Given the description of an element on the screen output the (x, y) to click on. 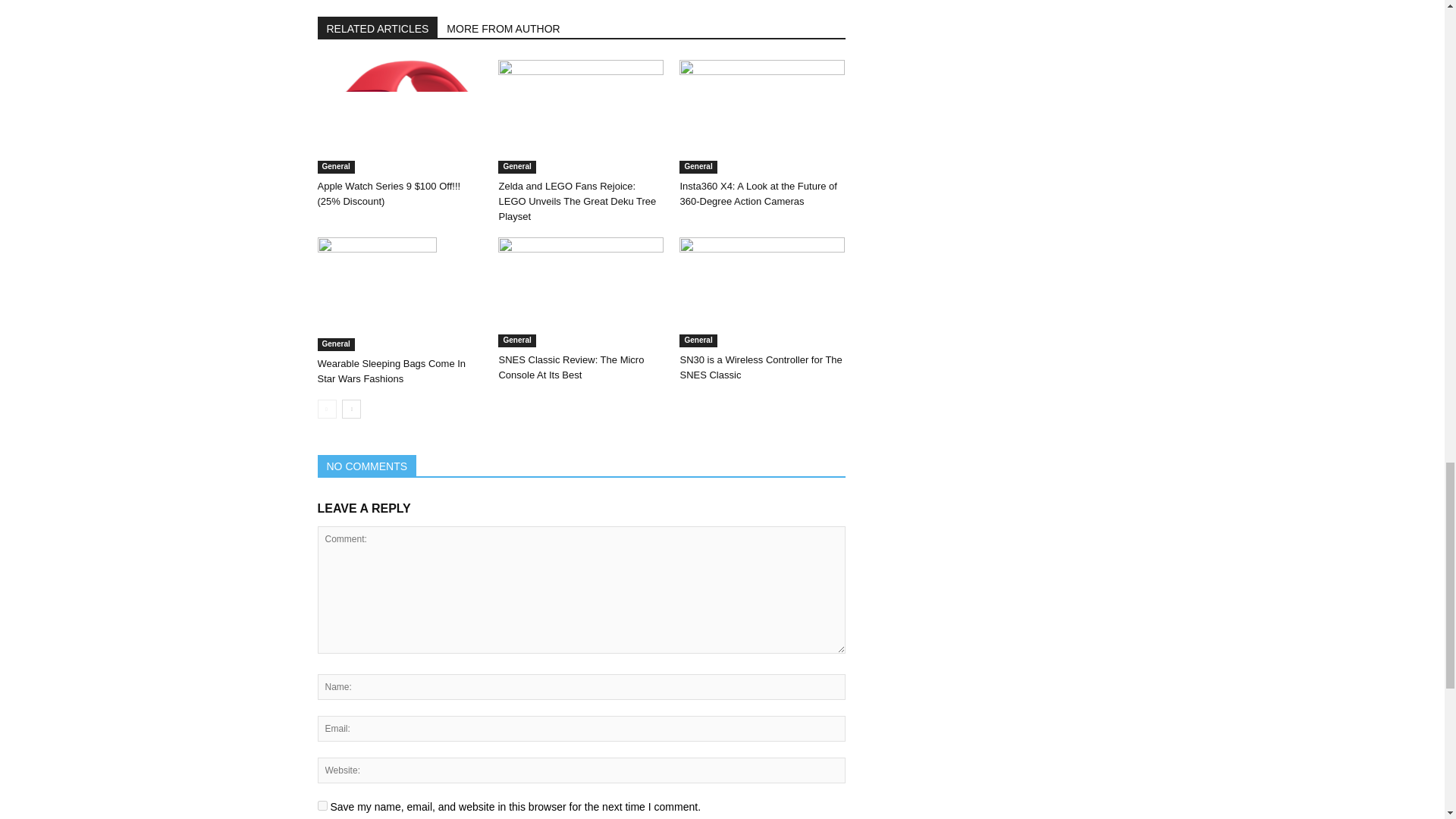
General (697, 340)
Wearable Sleeping Bags Come In Star Wars Fashions (376, 294)
RELATED ARTICLES (377, 26)
General (697, 166)
yes (321, 805)
MORE FROM AUTHOR (503, 26)
Wearable Sleeping Bags Come In Star Wars Fashions (399, 294)
General (516, 166)
Wearable Sleeping Bags Come In Star Wars Fashions (391, 370)
General (516, 340)
General (335, 166)
